Given the description of an element on the screen output the (x, y) to click on. 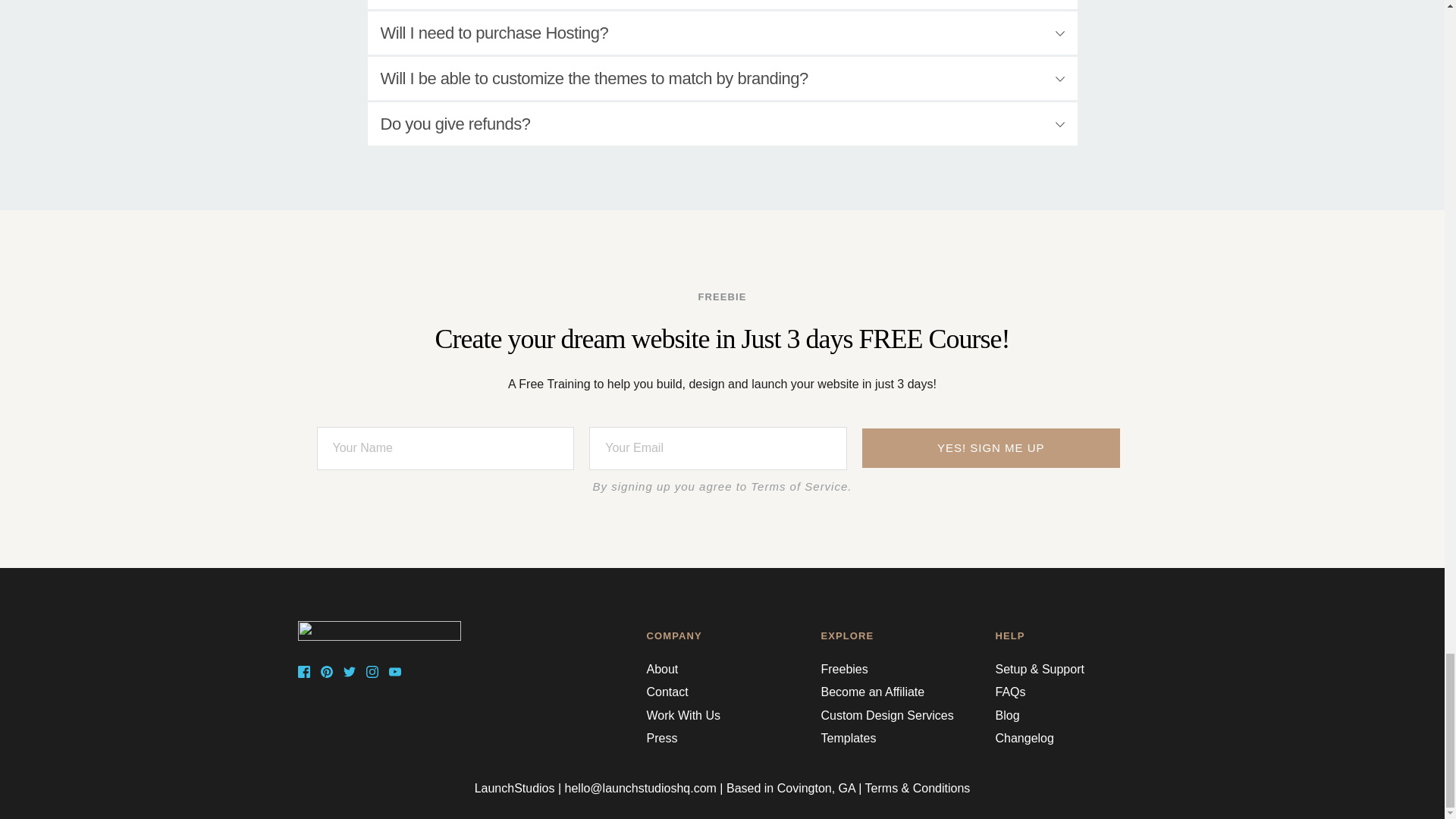
Press (661, 738)
Become an Affiliate (872, 691)
YES! SIGN ME UP (990, 447)
Freebies (844, 668)
FAQs (1009, 691)
Custom Design Services (887, 715)
Changelog (1023, 738)
Contact (666, 691)
Templates (848, 738)
About (662, 668)
Blog (1006, 715)
Work With Us (682, 715)
